Given the description of an element on the screen output the (x, y) to click on. 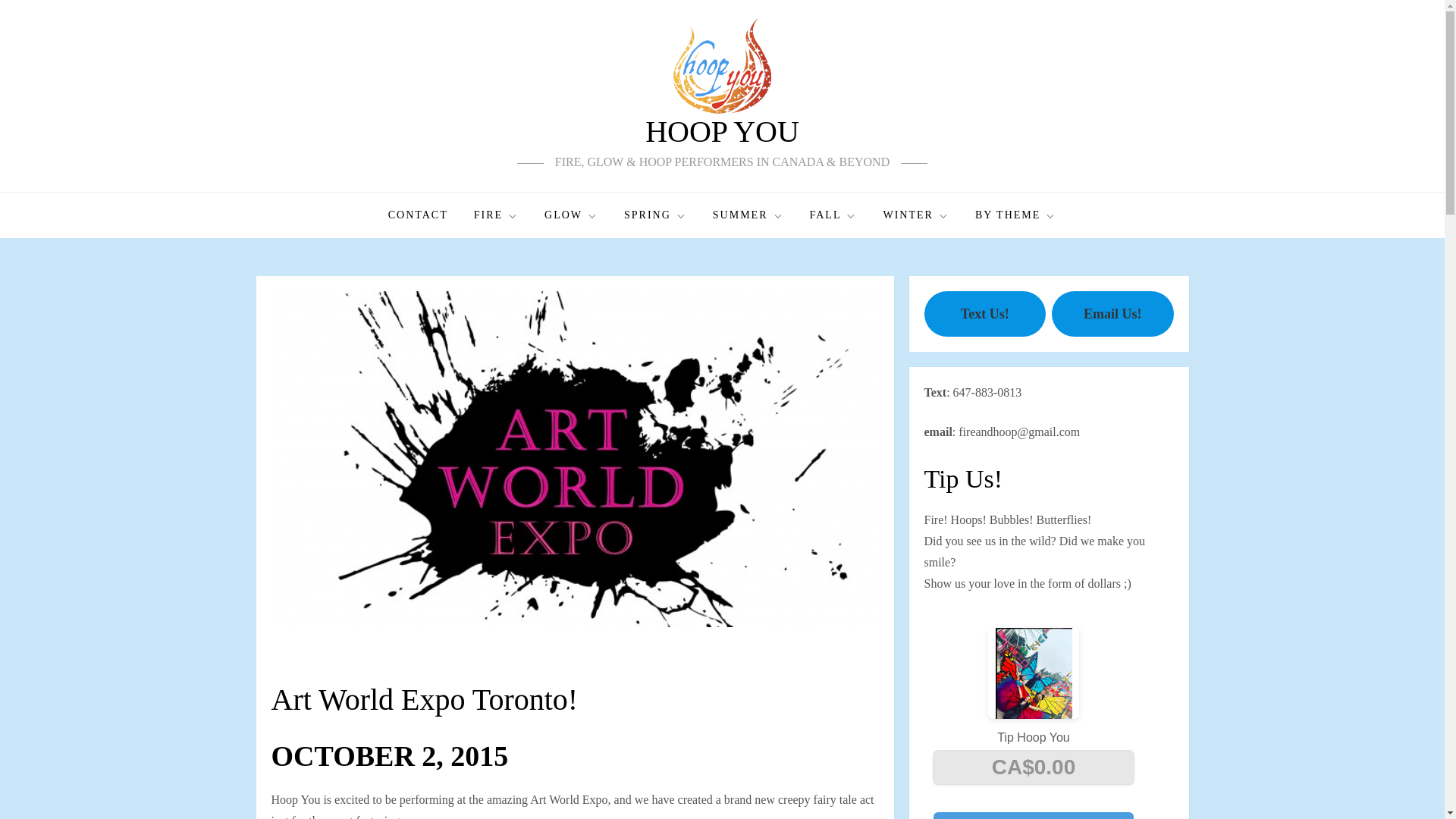
SPRING (655, 215)
GLOW (571, 215)
FIRE (496, 215)
SUMMER (747, 215)
FALL (833, 215)
CONTACT (418, 215)
HOOP YOU (722, 131)
